Given the description of an element on the screen output the (x, y) to click on. 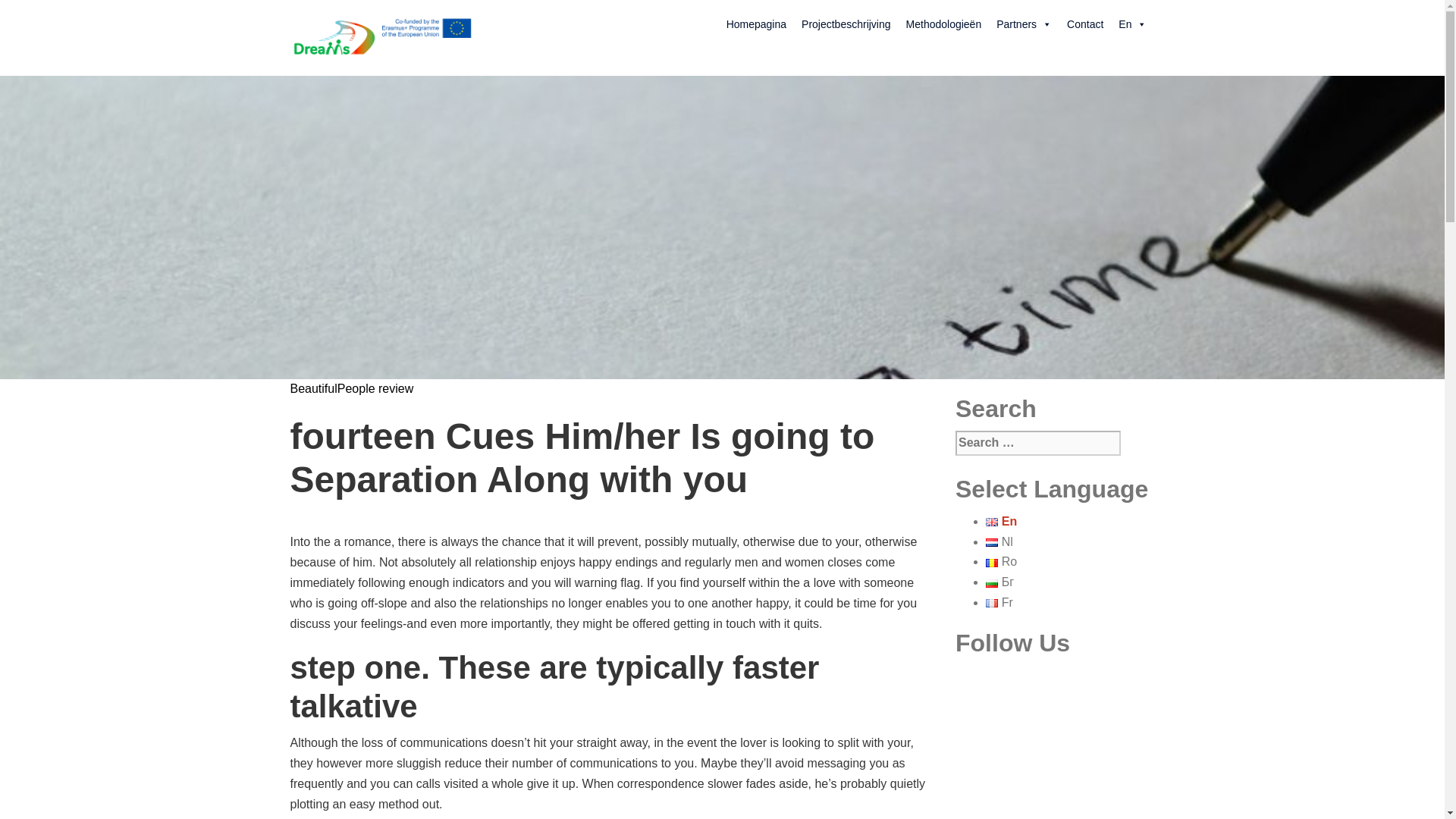
BeautifulPeople review (351, 388)
Contact (1084, 24)
Projectbeschrijving (845, 24)
BeautifulPeople review (351, 388)
Nl (999, 541)
Homepagina (756, 24)
Ro (1000, 561)
Dreams (381, 36)
En (1132, 24)
Fr (999, 602)
En (1000, 521)
Search (50, 19)
Partners (1023, 24)
